Given the description of an element on the screen output the (x, y) to click on. 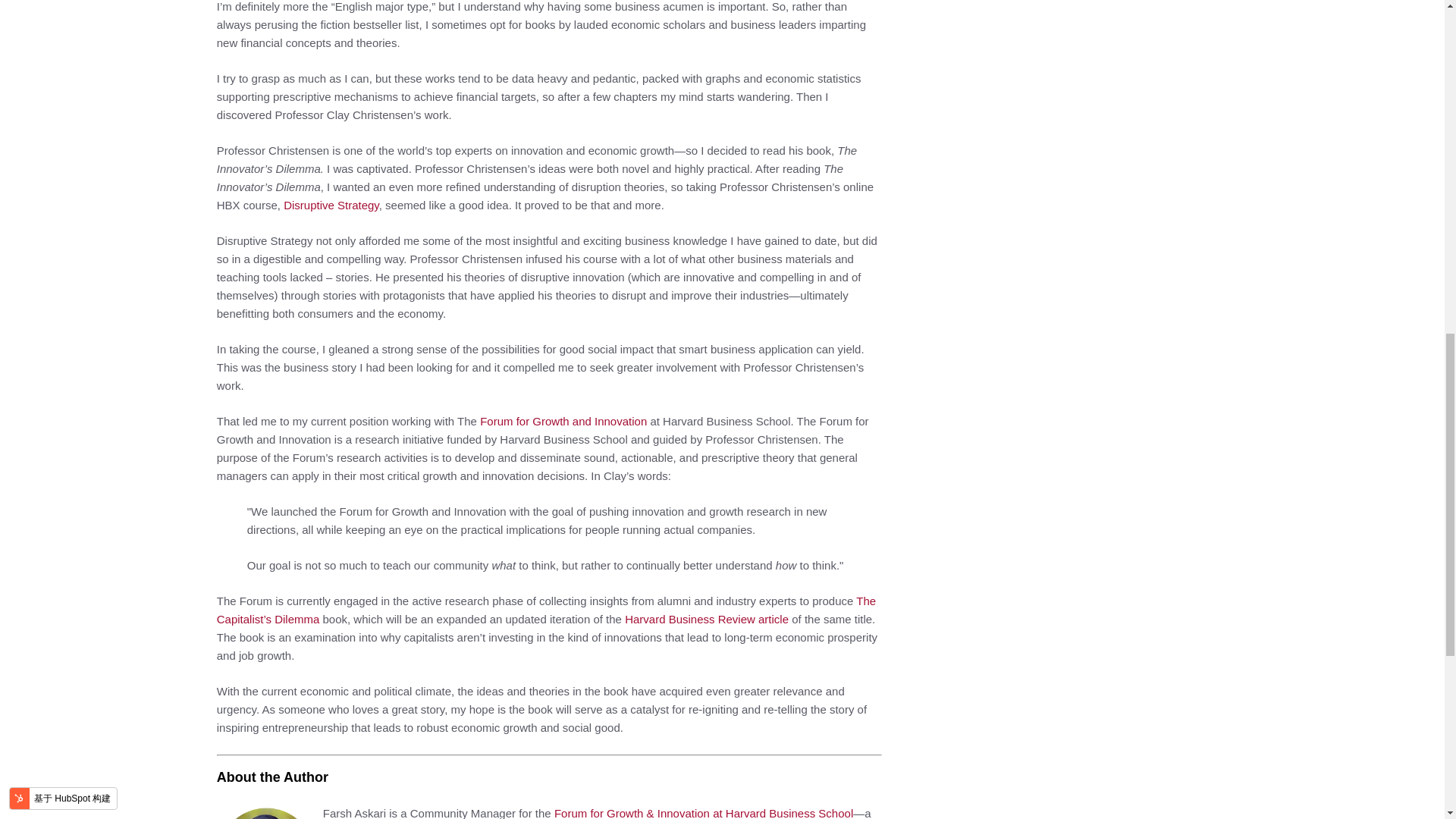
Disruptive Strategy (330, 205)
Farsh Askari (265, 812)
Forum for Growth and Innovation (563, 420)
Harvard Business Review article (706, 618)
